Given the description of an element on the screen output the (x, y) to click on. 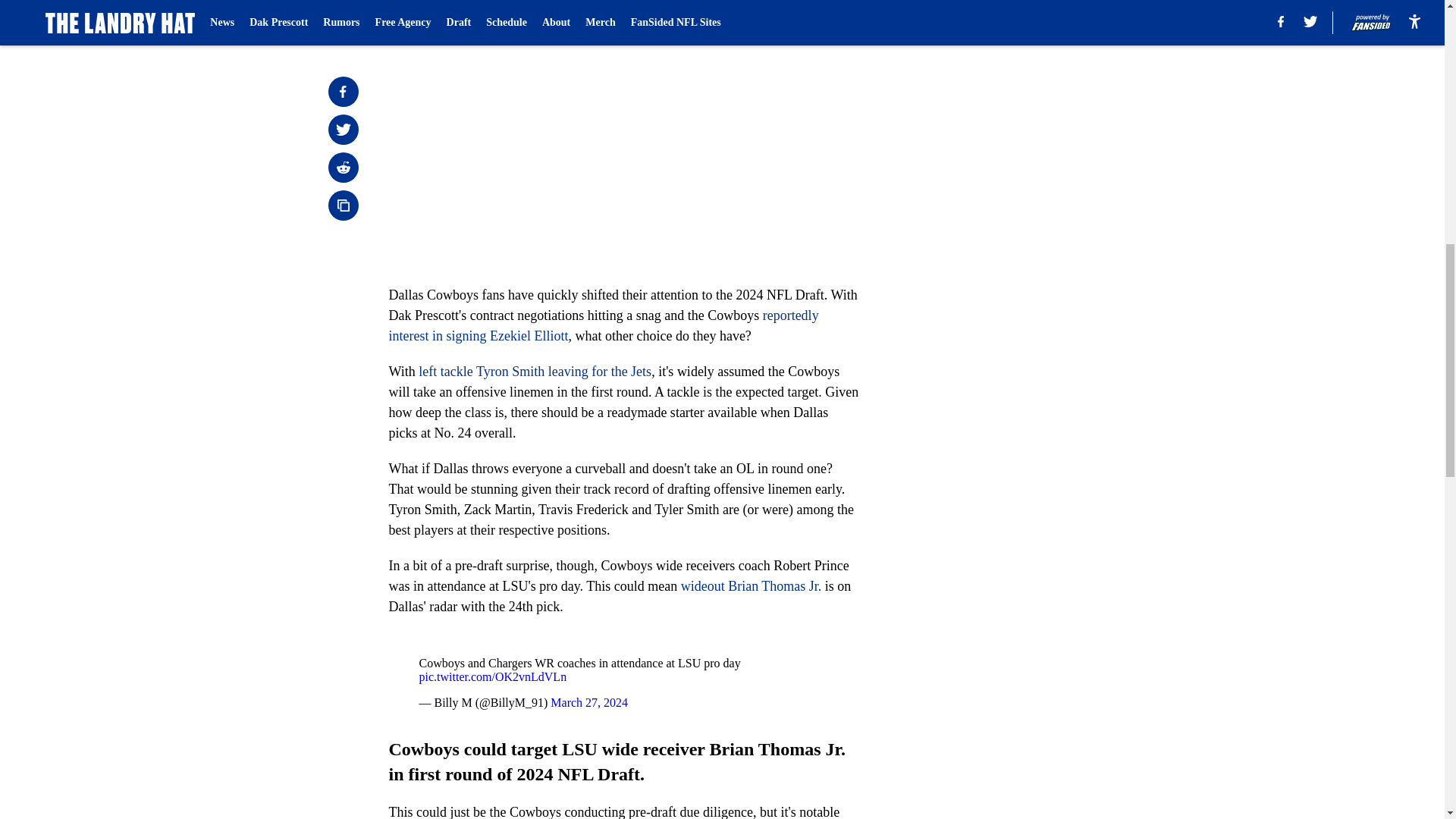
reportedly interest in signing Ezekiel Elliott (603, 325)
left tackle Tyron Smith leaving for the Jets (534, 371)
wideout Brian Thomas Jr. (751, 585)
March 27, 2024 (588, 702)
